Given the description of an element on the screen output the (x, y) to click on. 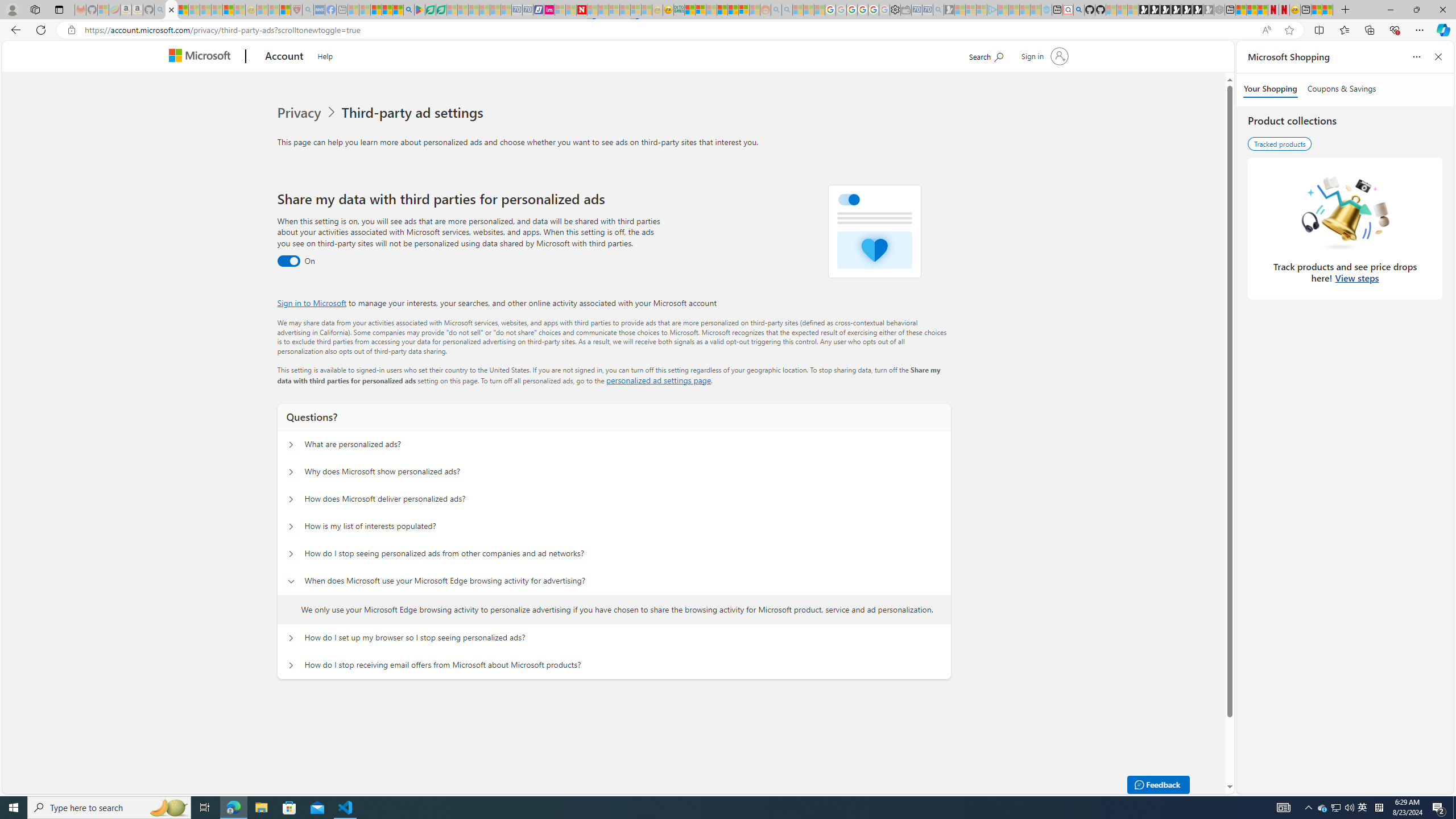
Search Microsoft.com (986, 54)
personalized ad settings page (658, 379)
